Given the description of an element on the screen output the (x, y) to click on. 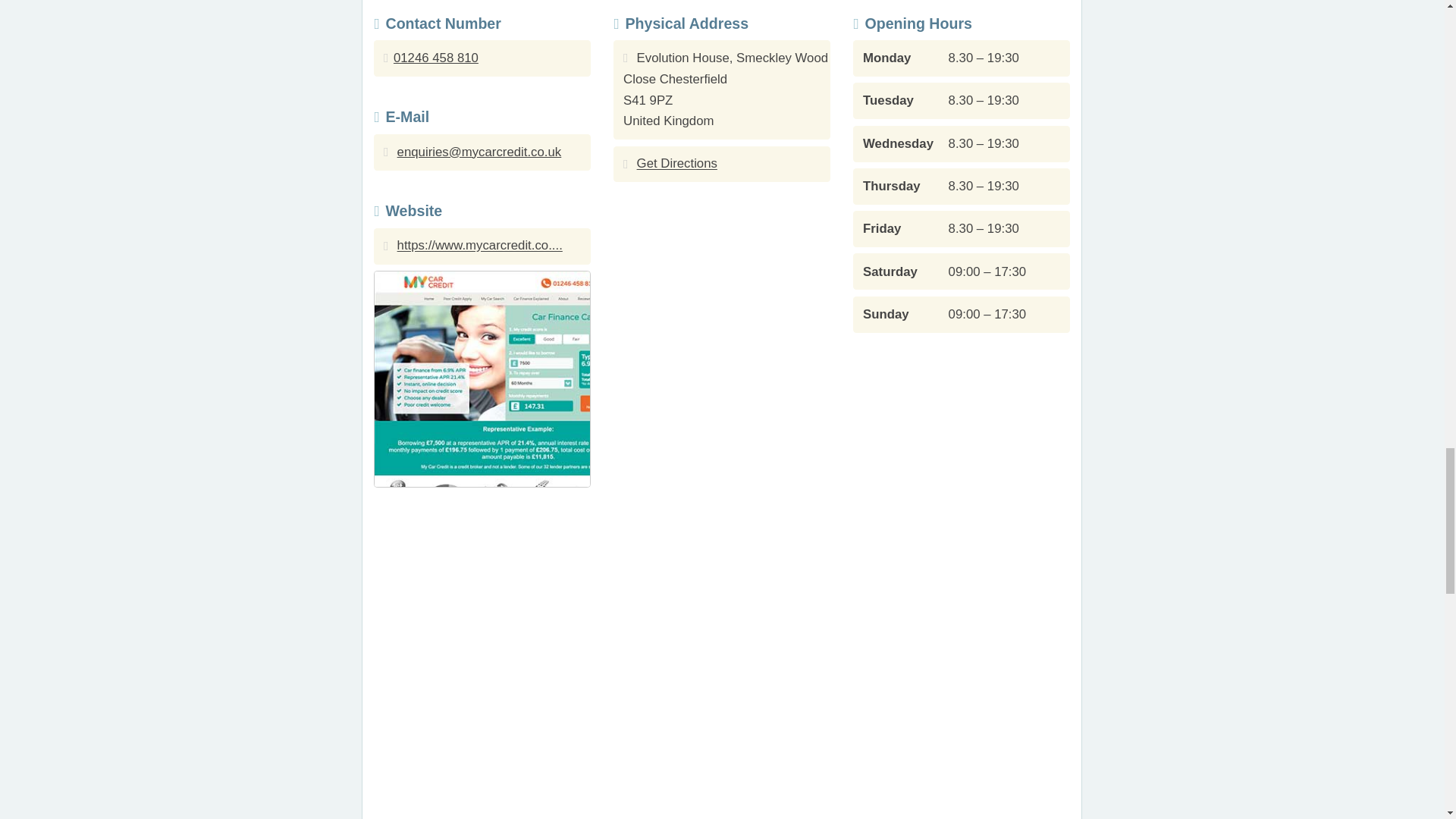
01246 458 810 (438, 58)
Get Directions (680, 163)
